Given the description of an element on the screen output the (x, y) to click on. 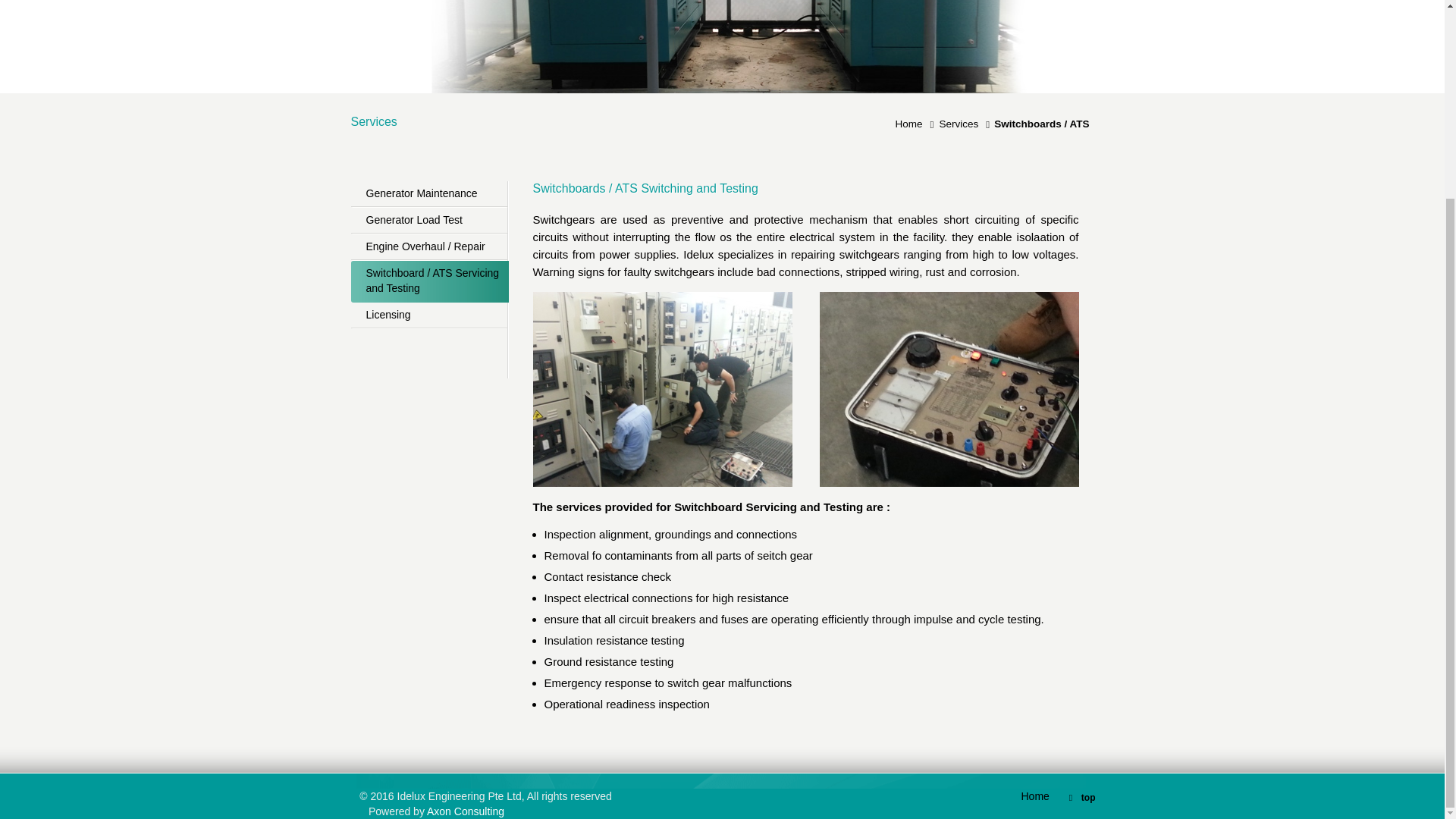
Generator Load Test (428, 221)
Services (961, 123)
Generator Maintenance (428, 194)
Home (911, 123)
